Given the description of an element on the screen output the (x, y) to click on. 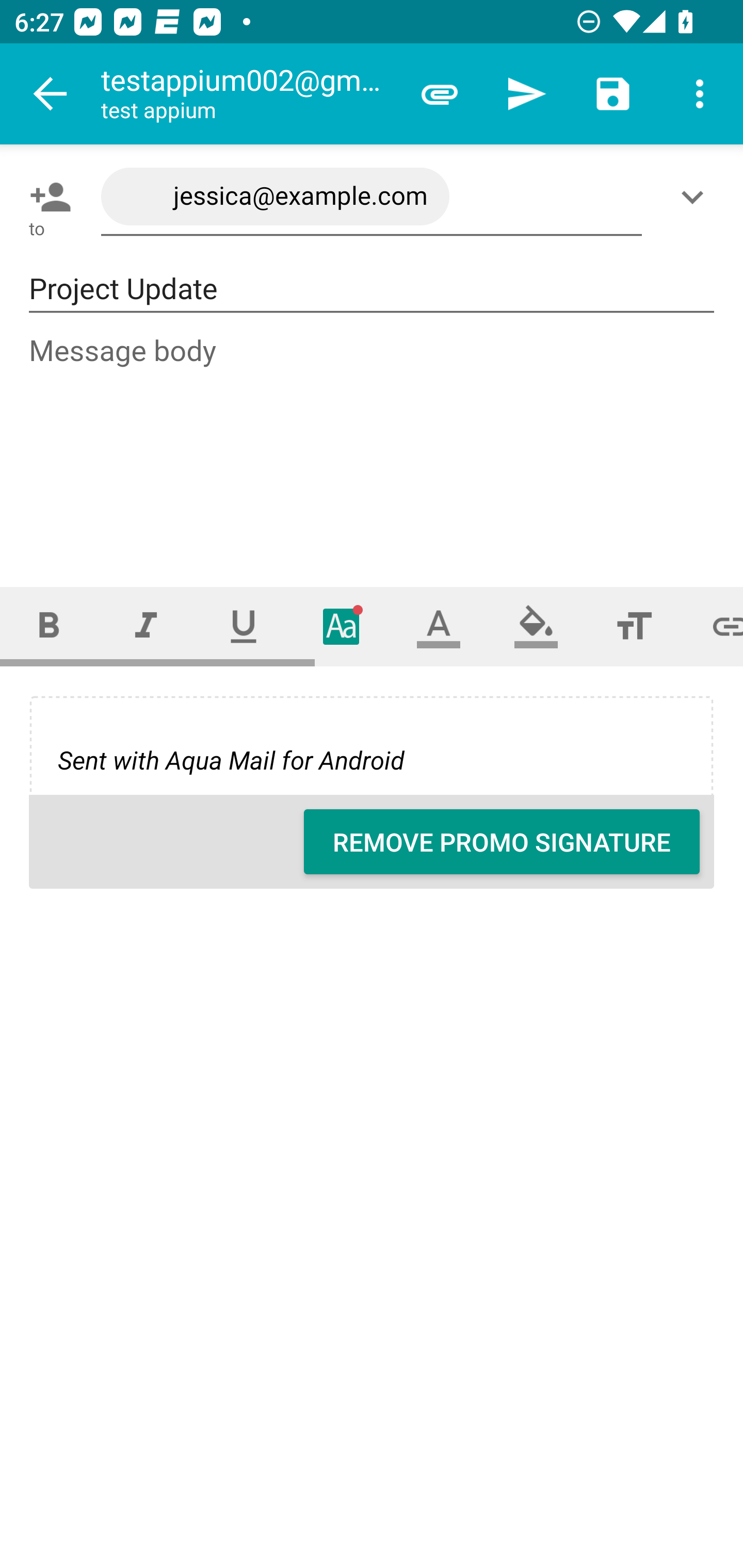
Navigate up (50, 93)
testappium002@gmail.com test appium (248, 93)
Attach (439, 93)
Send (525, 93)
Save (612, 93)
More options (699, 93)
jessica@example.com,  (371, 197)
Pick contact: To (46, 196)
Show/Add CC/BCC (696, 196)
Project Update (371, 288)
Message body (372, 442)
Bold (48, 626)
Italic (145, 626)
Underline (243, 626)
Typeface (font) (341, 626)
Text color (438, 626)
Fill color (536, 626)
Font size (633, 626)
REMOVE PROMO SIGNATURE (501, 841)
